Given the description of an element on the screen output the (x, y) to click on. 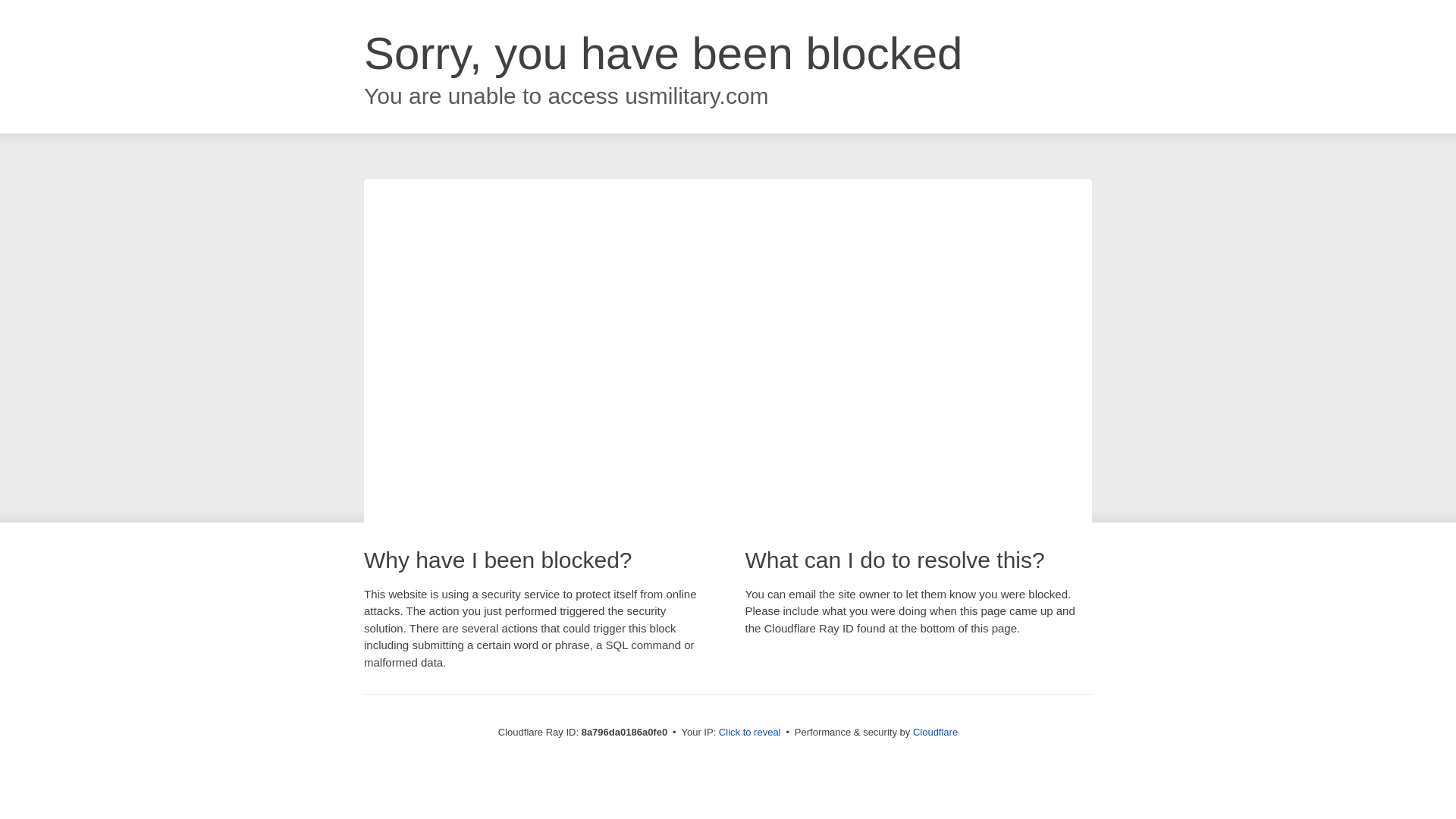
Click to reveal (749, 732)
Cloudflare (935, 731)
